Given the description of an element on the screen output the (x, y) to click on. 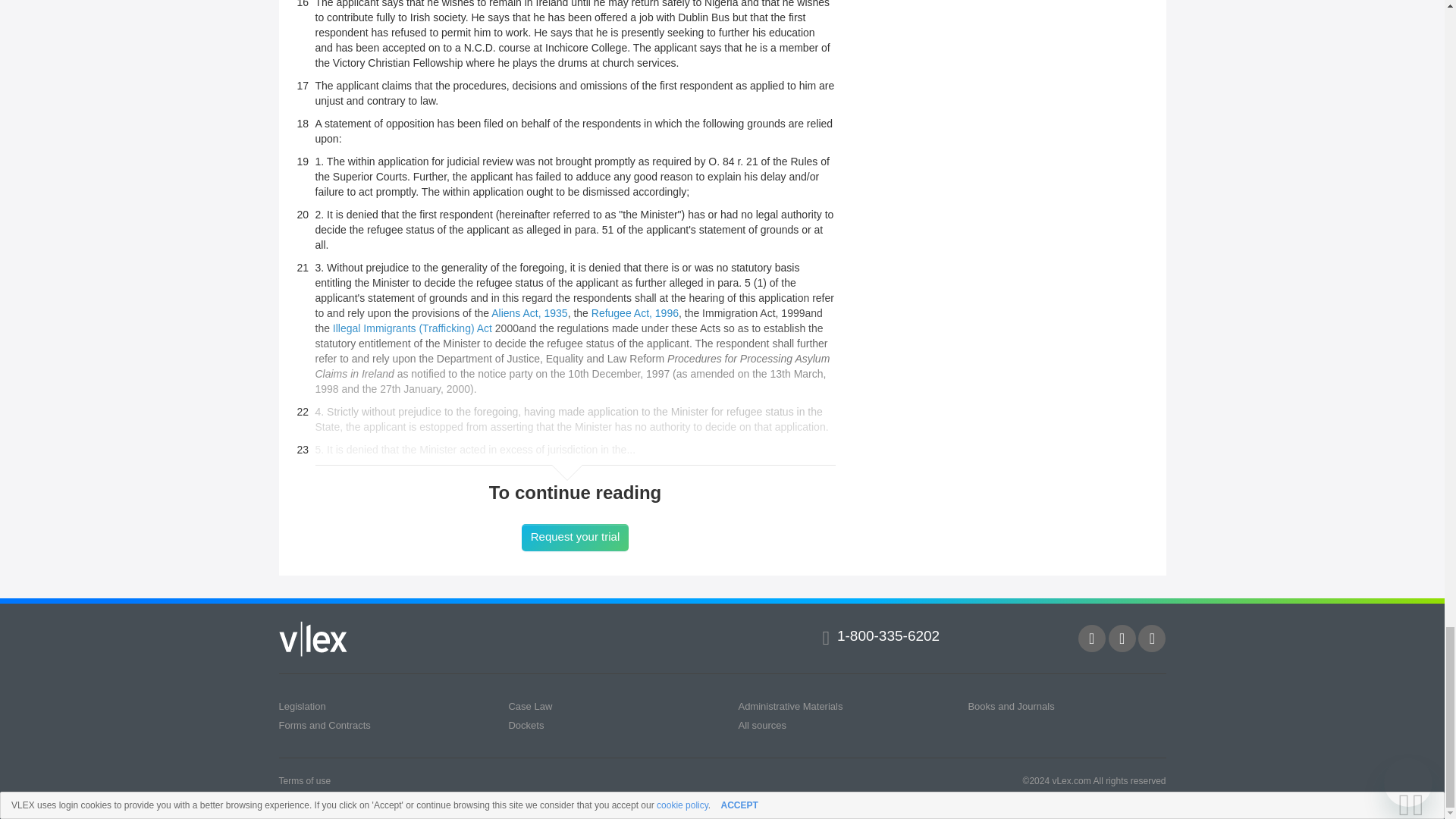
Terms of use (305, 780)
Legislation (302, 706)
Books and Journals (1011, 706)
Dockets (525, 725)
Case Law (529, 706)
All sources (762, 725)
Administrative Materials (790, 706)
vLex (313, 638)
Forms and Contracts (325, 725)
